Given the description of an element on the screen output the (x, y) to click on. 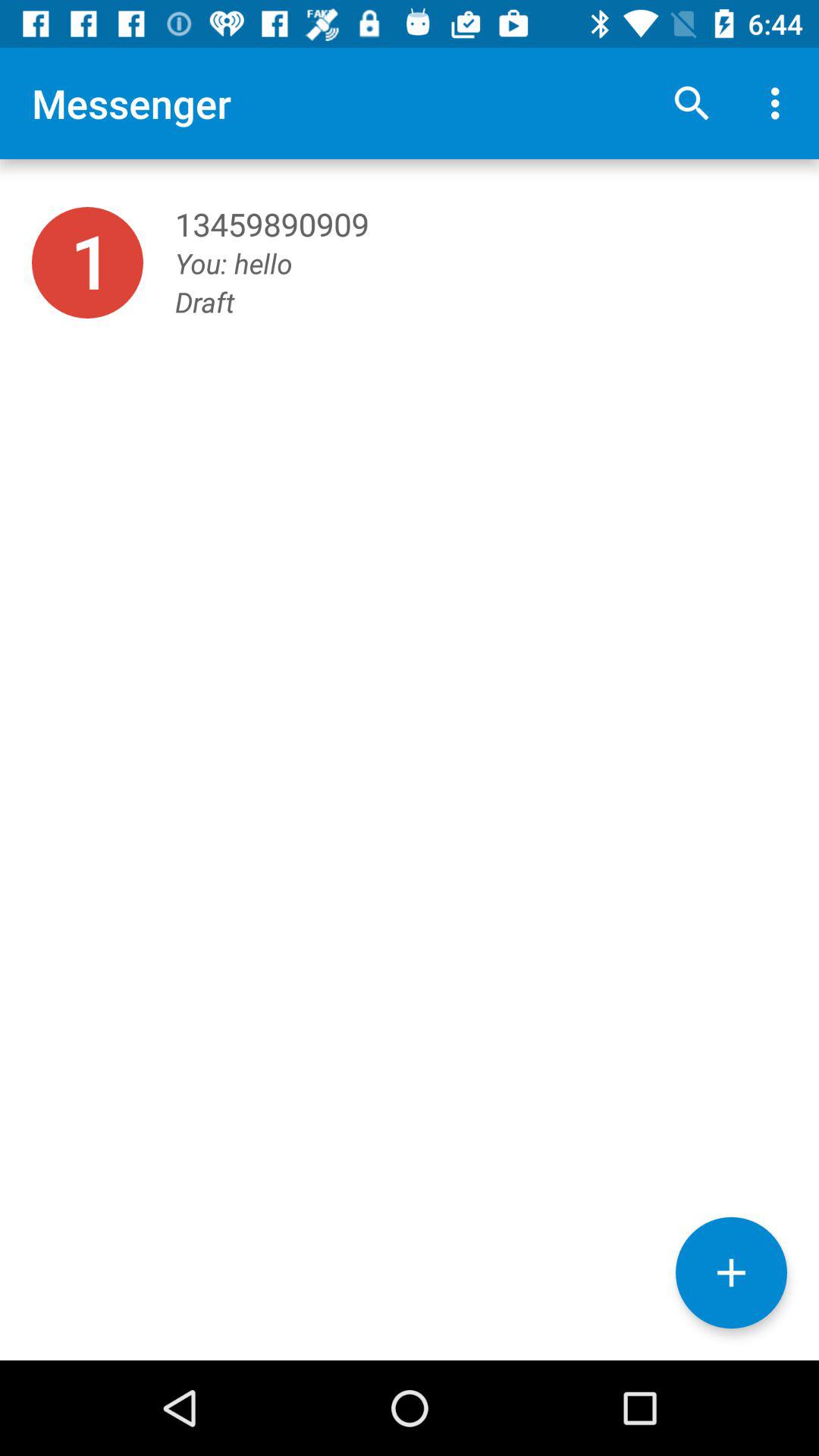
click the icon at the bottom right corner (731, 1272)
